Given the description of an element on the screen output the (x, y) to click on. 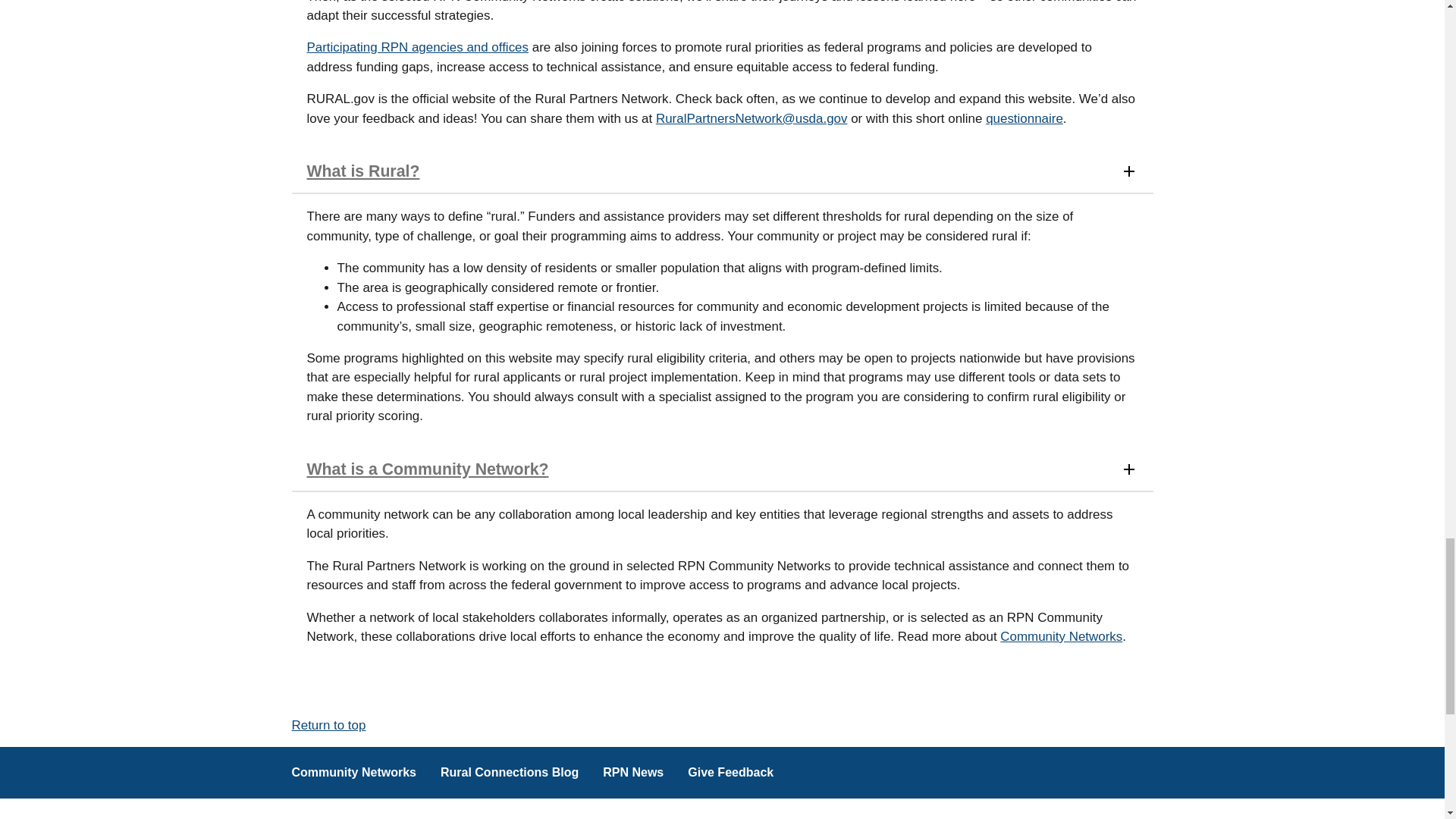
Participating RPN agencies and offices (416, 47)
What is Rural? (722, 171)
questionnaire (1023, 118)
Return to top (328, 725)
What is a Community Network? (722, 469)
Community Networks (1061, 636)
